Given the description of an element on the screen output the (x, y) to click on. 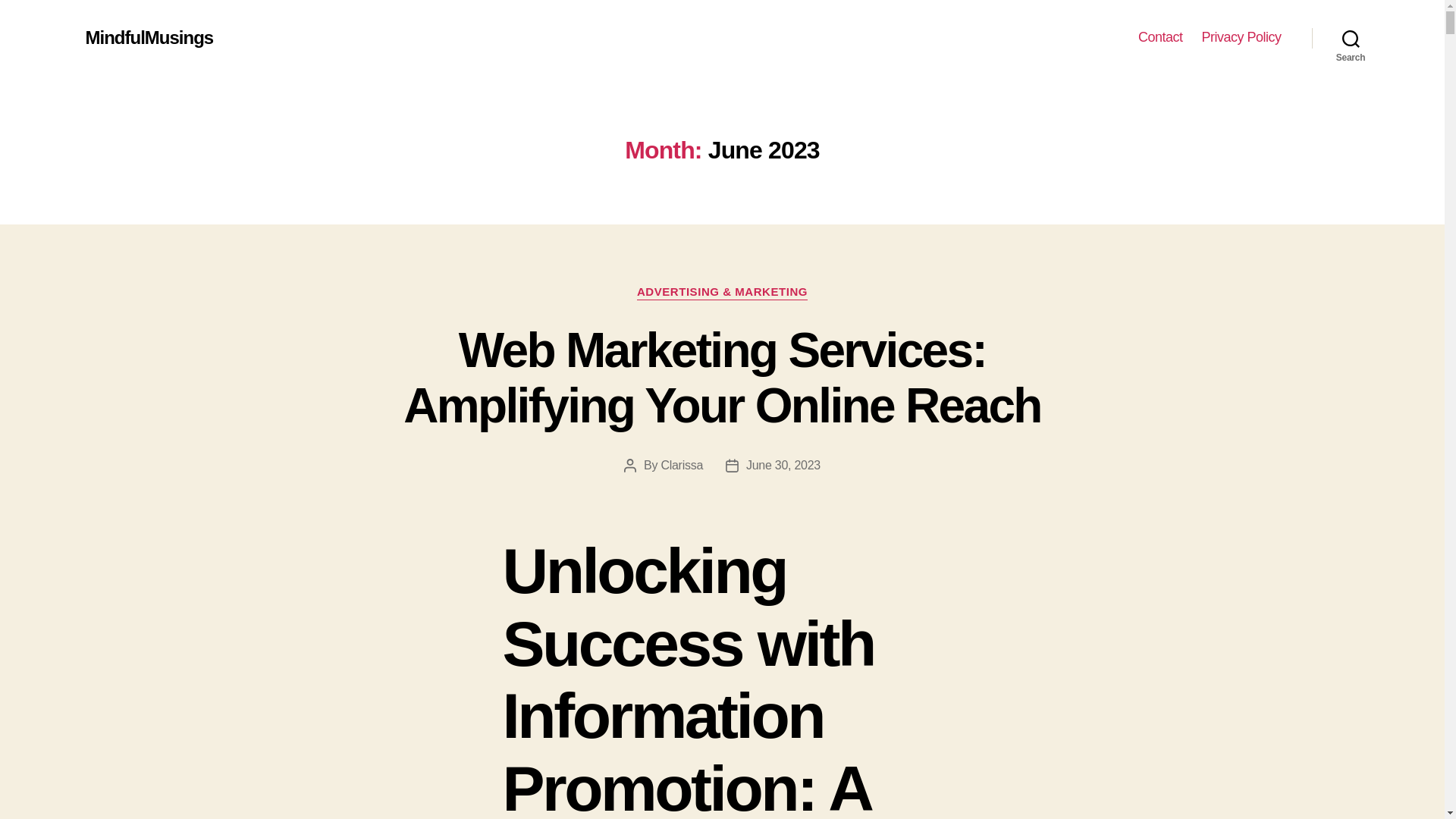
Clarissa (682, 464)
Privacy Policy (1241, 37)
Search (1350, 37)
Web Marketing Services: Amplifying Your Online Reach (722, 377)
June 30, 2023 (783, 464)
MindfulMusings (148, 37)
Contact (1160, 37)
